Given the description of an element on the screen output the (x, y) to click on. 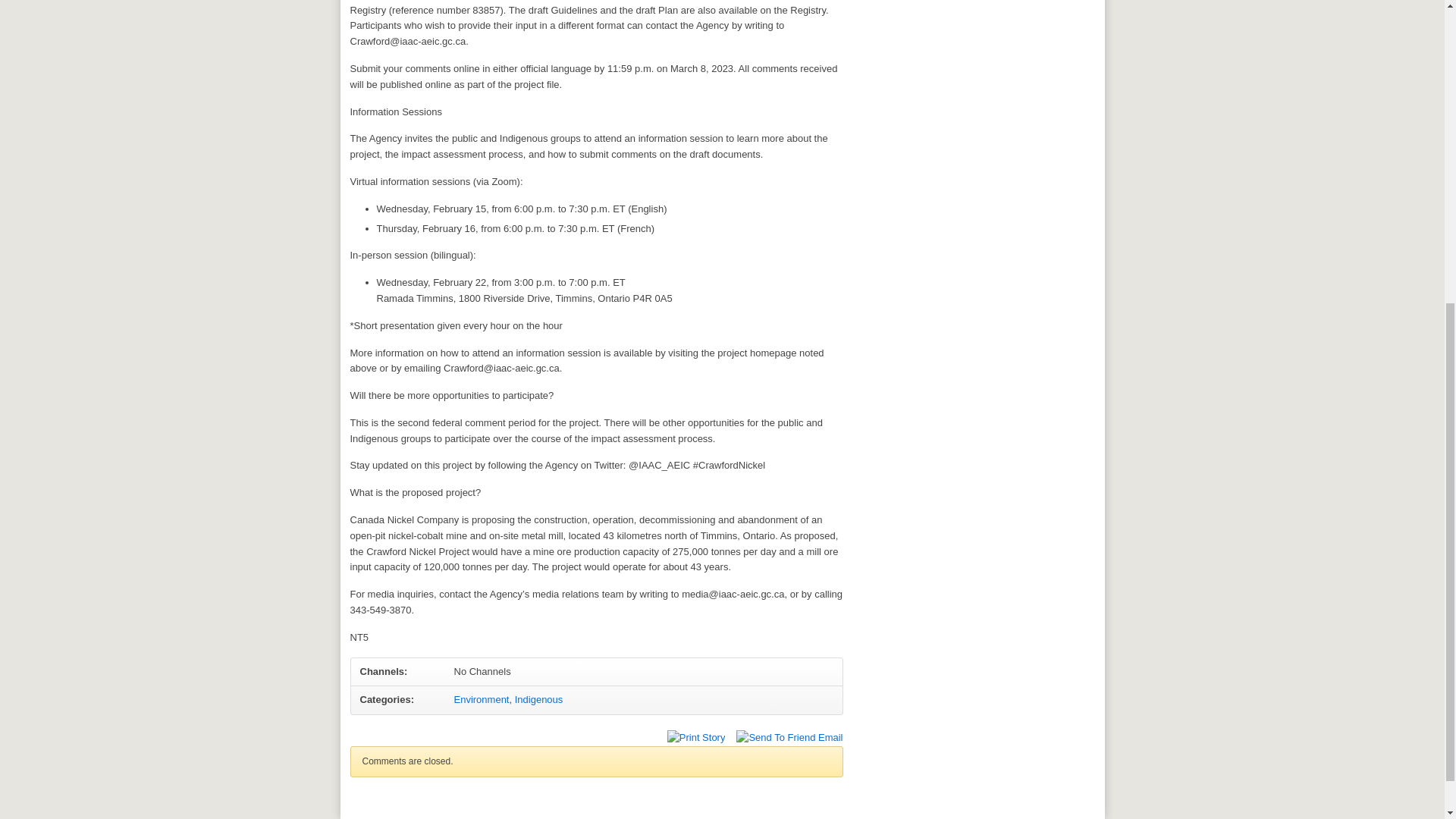
Indigenous (539, 699)
Send this Story to a Friend (789, 738)
Environment (480, 699)
